Given the description of an element on the screen output the (x, y) to click on. 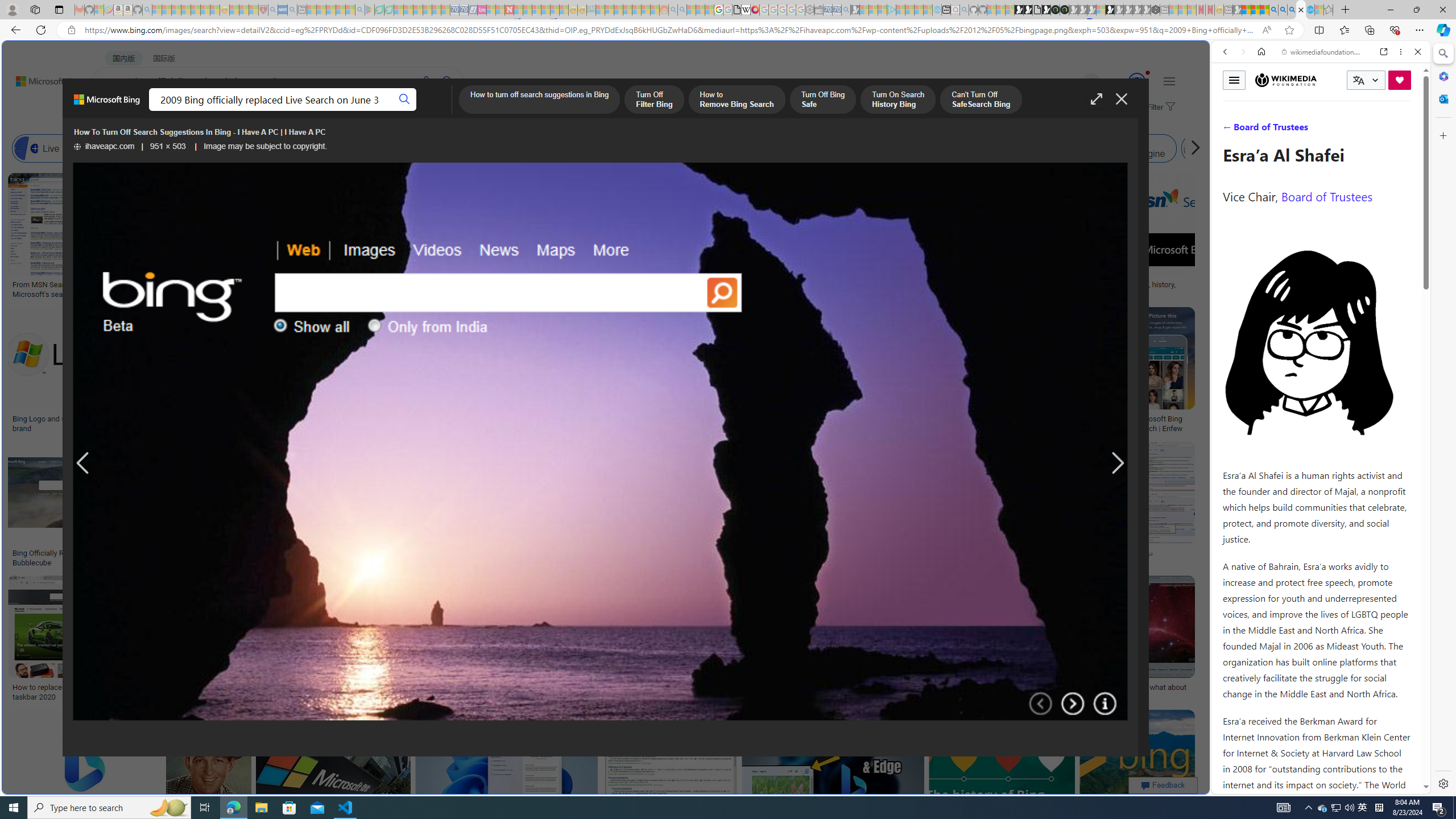
Wallet - Sleeping (818, 9)
Bing Ai Search Engine Powered (472, 148)
Favorites - Sleeping (1328, 9)
Forward (1242, 51)
Microsoft-Report a Concern to Bing - Sleeping (98, 9)
Turn Off Bing Safe (822, 100)
Bing (2009) (RARE/FAKE) - YouTubeSave (944, 505)
ihaveapc.com (104, 146)
